Given the description of an element on the screen output the (x, y) to click on. 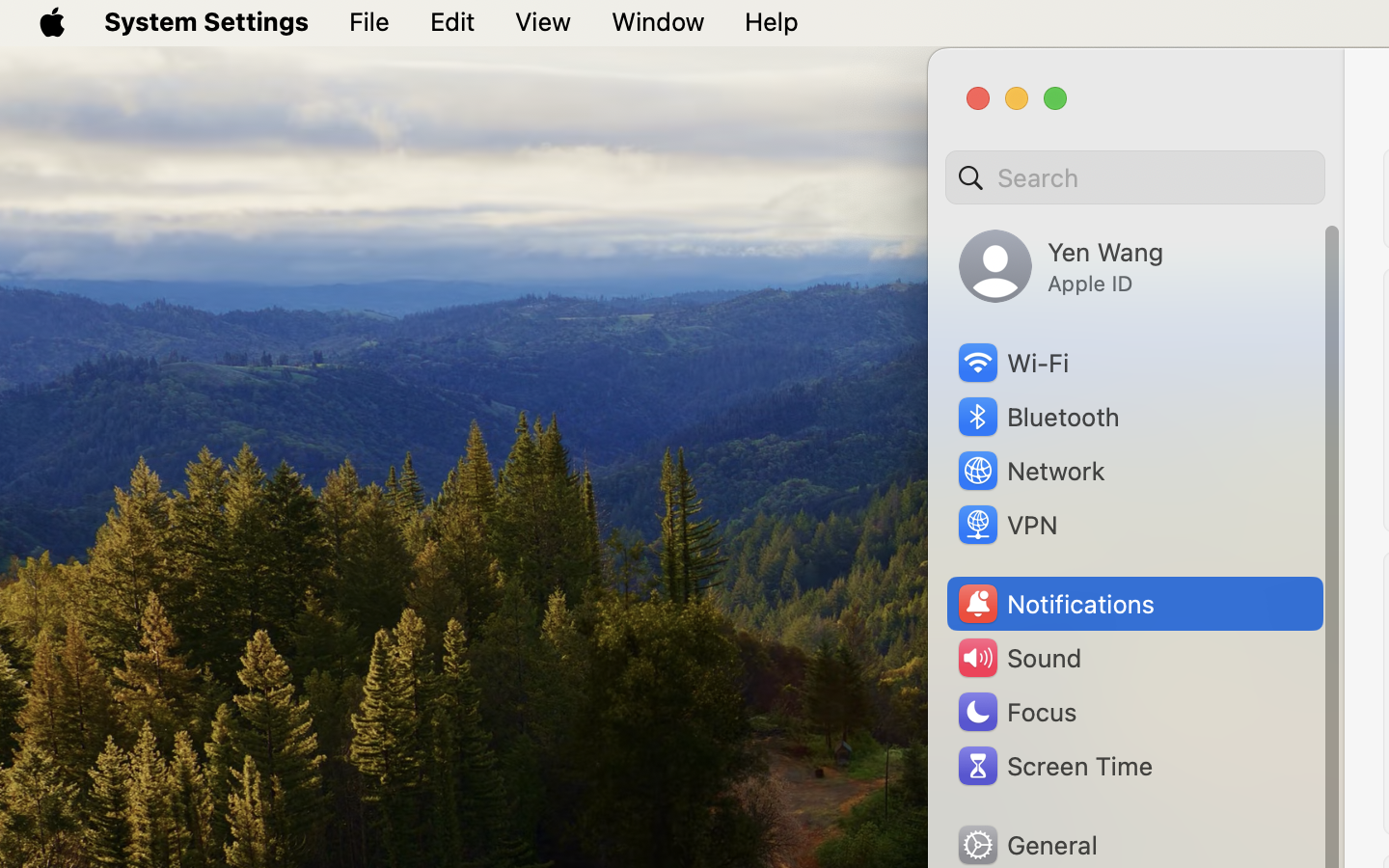
Notifications Element type: AXStaticText (1054, 603)
Network Element type: AXStaticText (1029, 470)
General Element type: AXStaticText (1025, 844)
VPN Element type: AXStaticText (1005, 524)
Bluetooth Element type: AXStaticText (1037, 416)
